Given the description of an element on the screen output the (x, y) to click on. 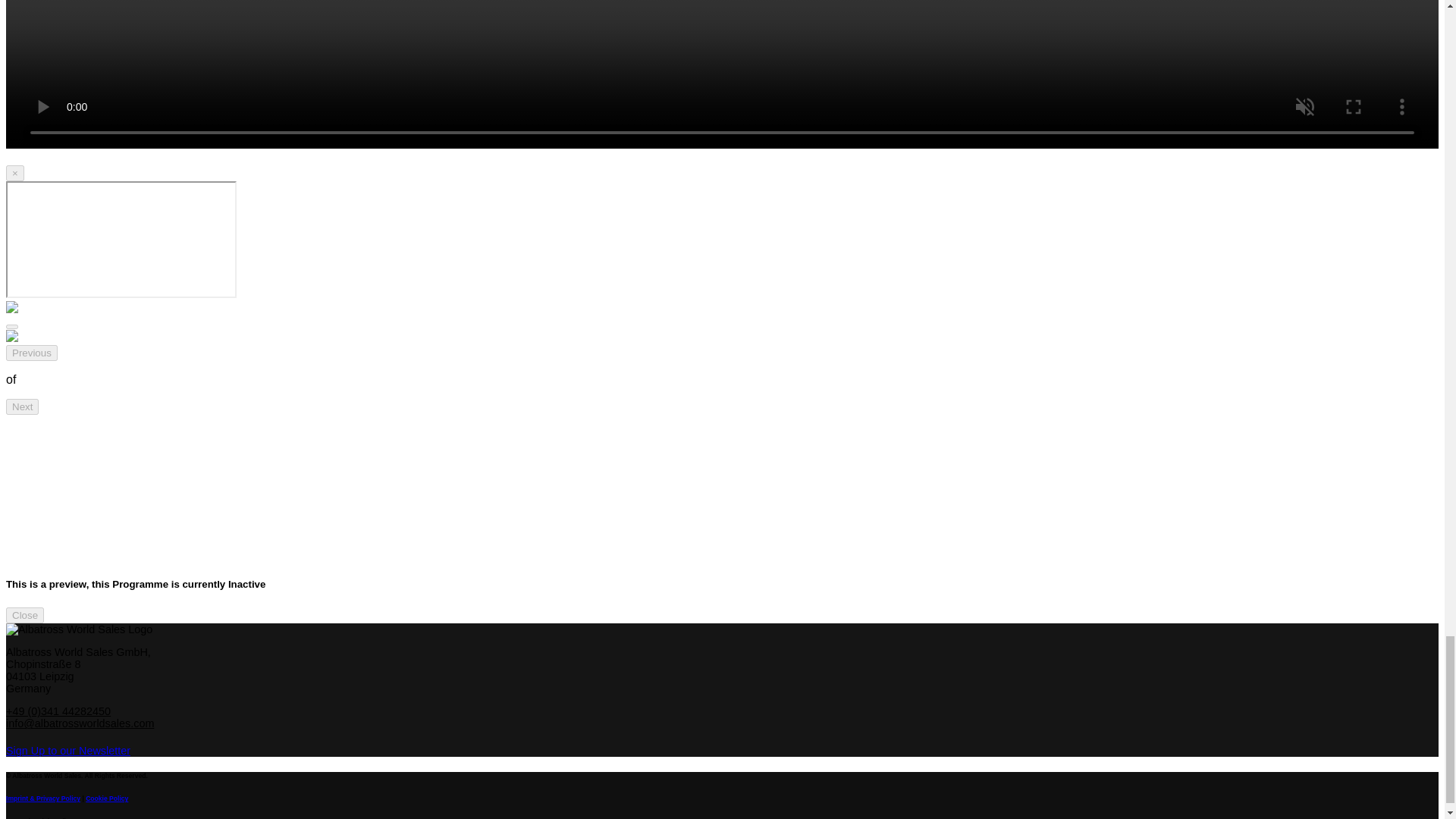
Close (24, 614)
Previous (31, 352)
Next (22, 406)
Sign Up to our Newsletter (68, 750)
Cookie Policy (106, 798)
